Given the description of an element on the screen output the (x, y) to click on. 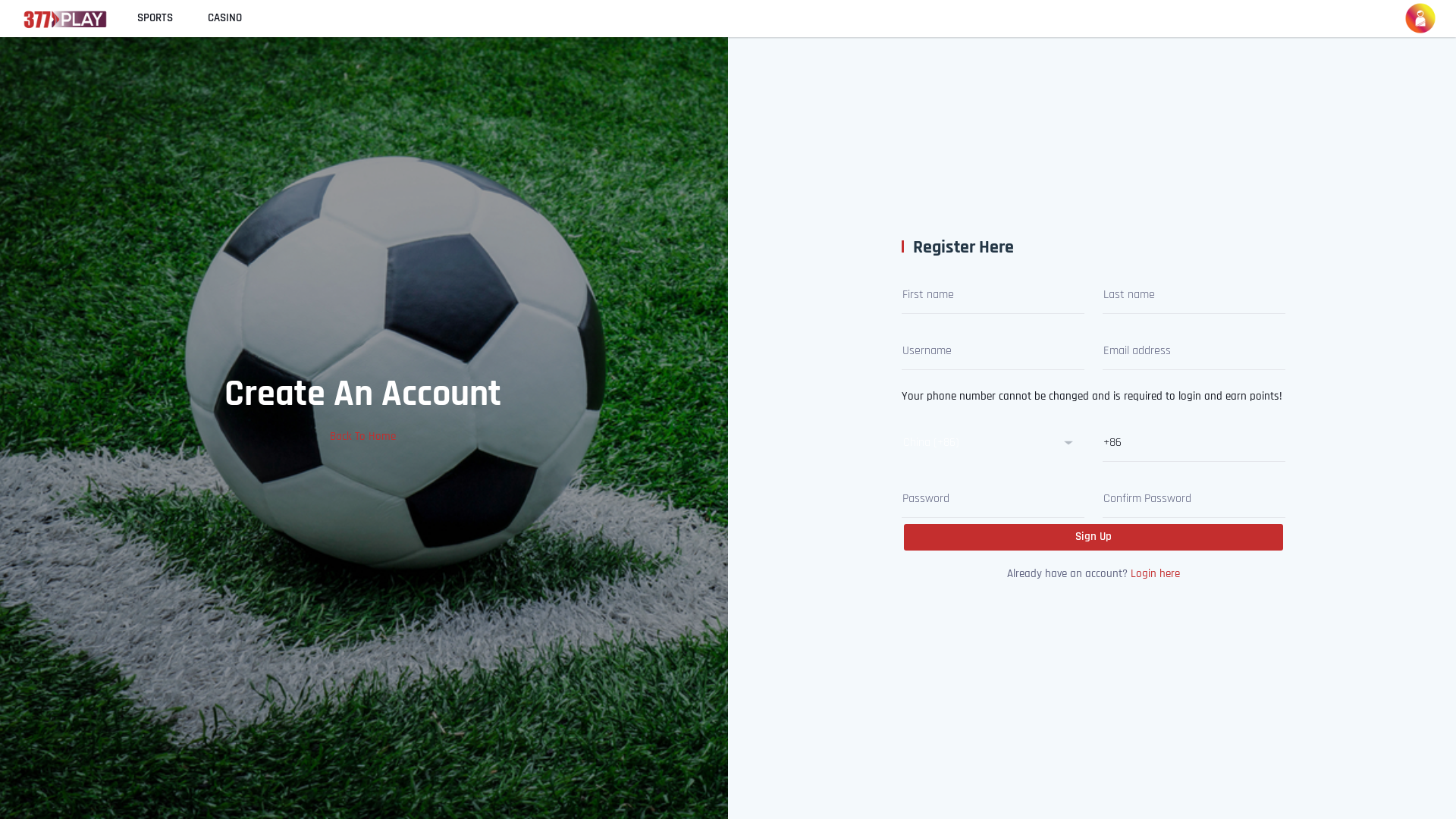
Sign Up Element type: text (1093, 537)
Back To Home Element type: text (362, 436)
SPORTS Element type: text (154, 18)
Login here Element type: text (1154, 573)
CASINO Element type: text (224, 18)
